Given the description of an element on the screen output the (x, y) to click on. 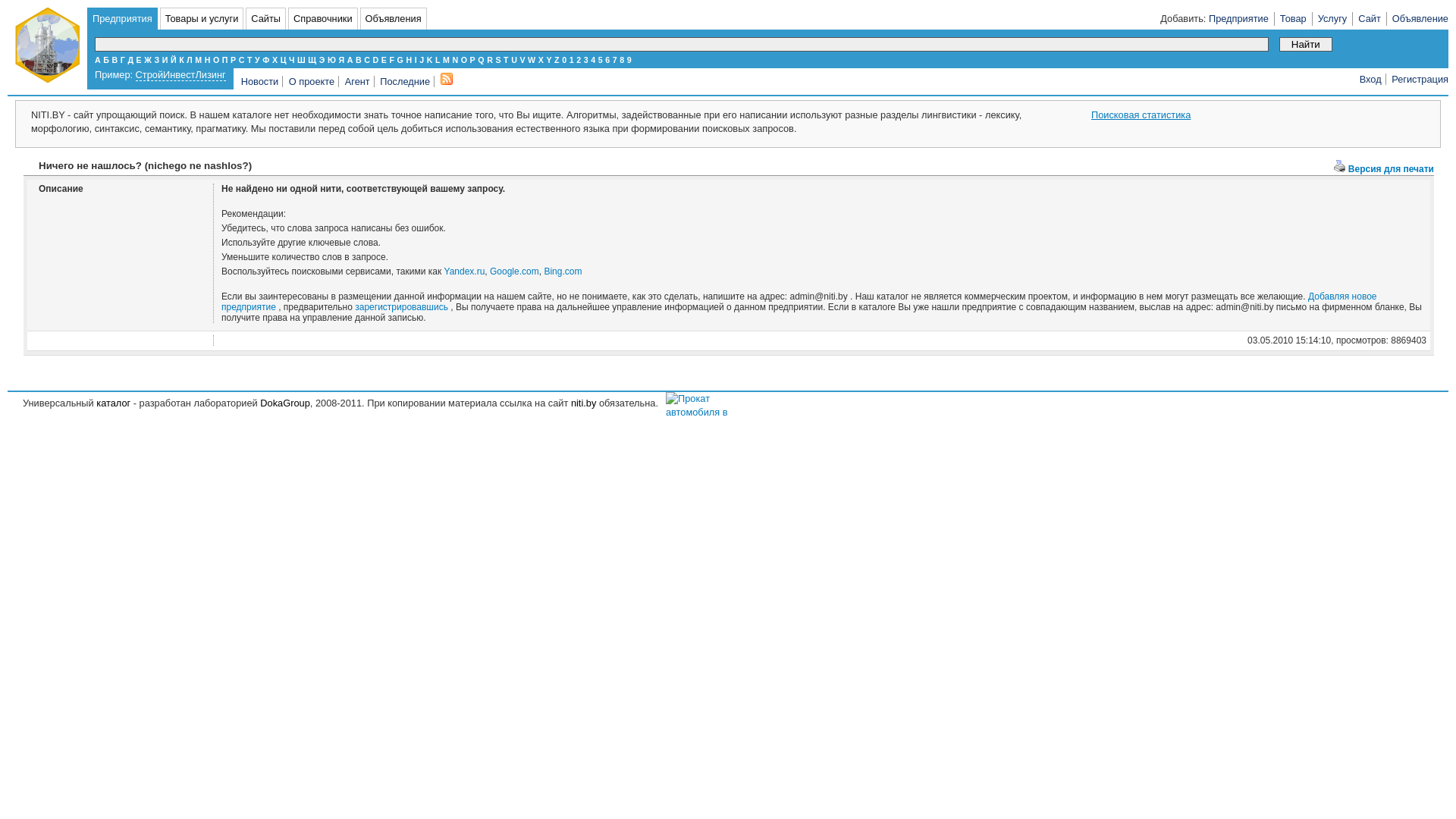
N Element type: text (454, 59)
1 Element type: text (571, 59)
Yandex.ru Element type: text (464, 271)
3 Element type: text (585, 59)
8 Element type: text (621, 59)
V Element type: text (521, 59)
B Element type: text (358, 59)
6 Element type: text (607, 59)
I Element type: text (415, 59)
E Element type: text (383, 59)
W Element type: text (531, 59)
M Element type: text (445, 59)
DokaGroup Element type: text (284, 402)
S Element type: text (497, 59)
C Element type: text (367, 59)
Z Element type: text (556, 59)
Y Element type: text (548, 59)
F Element type: text (391, 59)
G Element type: text (400, 59)
T Element type: text (505, 59)
O Element type: text (464, 59)
0 Element type: text (563, 59)
U Element type: text (514, 59)
D Element type: text (376, 59)
5 Element type: text (600, 59)
2 Element type: text (578, 59)
Q Element type: text (480, 59)
J Element type: text (421, 59)
A Element type: text (350, 59)
K Element type: text (429, 59)
X Element type: text (540, 59)
Google.com Element type: text (514, 271)
niti.by Element type: text (583, 402)
4 Element type: text (592, 59)
L Element type: text (437, 59)
9 Element type: text (629, 59)
7 Element type: text (614, 59)
P Element type: text (472, 59)
R Element type: text (489, 59)
Bing.com Element type: text (562, 271)
H Element type: text (408, 59)
